Given the description of an element on the screen output the (x, y) to click on. 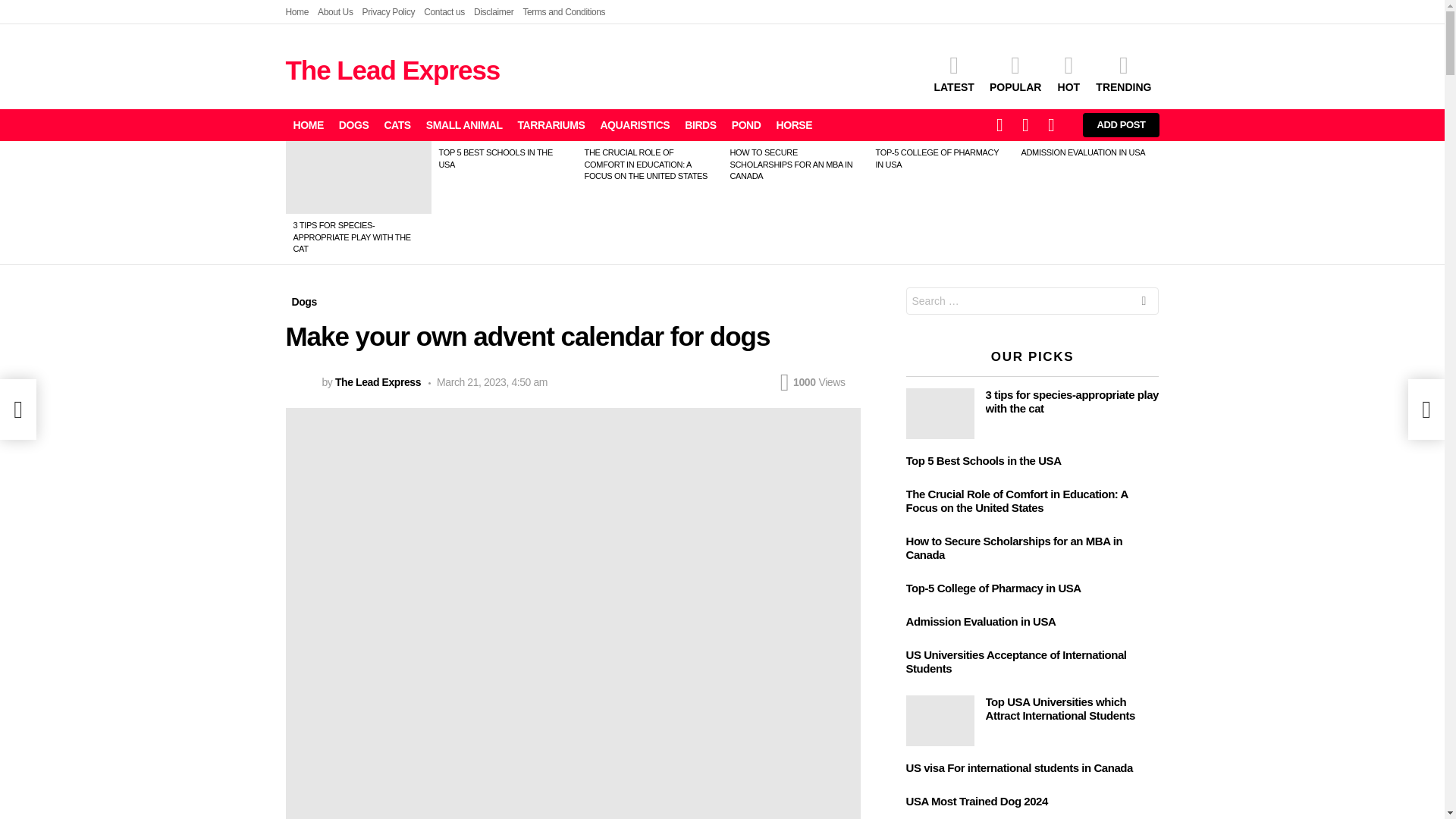
CATS (396, 124)
HOME (307, 124)
SMALL ANIMAL (465, 124)
TARRARIUMS (551, 124)
Disclaimer (493, 12)
BIRDS (700, 124)
Privacy Policy (388, 12)
AQUARISTICS (634, 124)
About Us (334, 12)
DOGS (354, 124)
3 tips for species-appropriate play with the cat (357, 176)
Contact us (443, 12)
The Lead Express (392, 70)
POND (745, 124)
Home (296, 12)
